Given the description of an element on the screen output the (x, y) to click on. 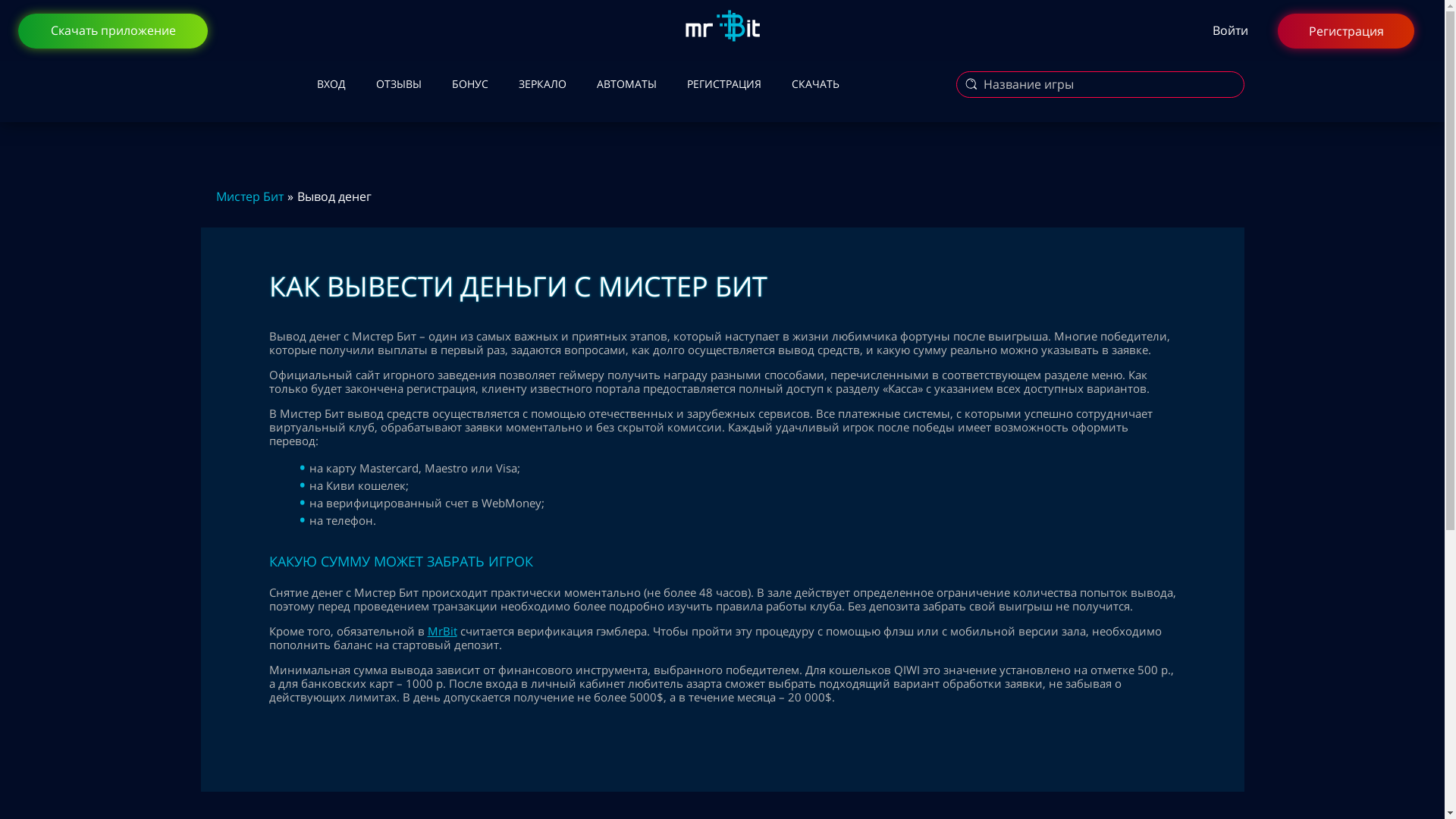
MrBit Element type: text (442, 630)
